Given the description of an element on the screen output the (x, y) to click on. 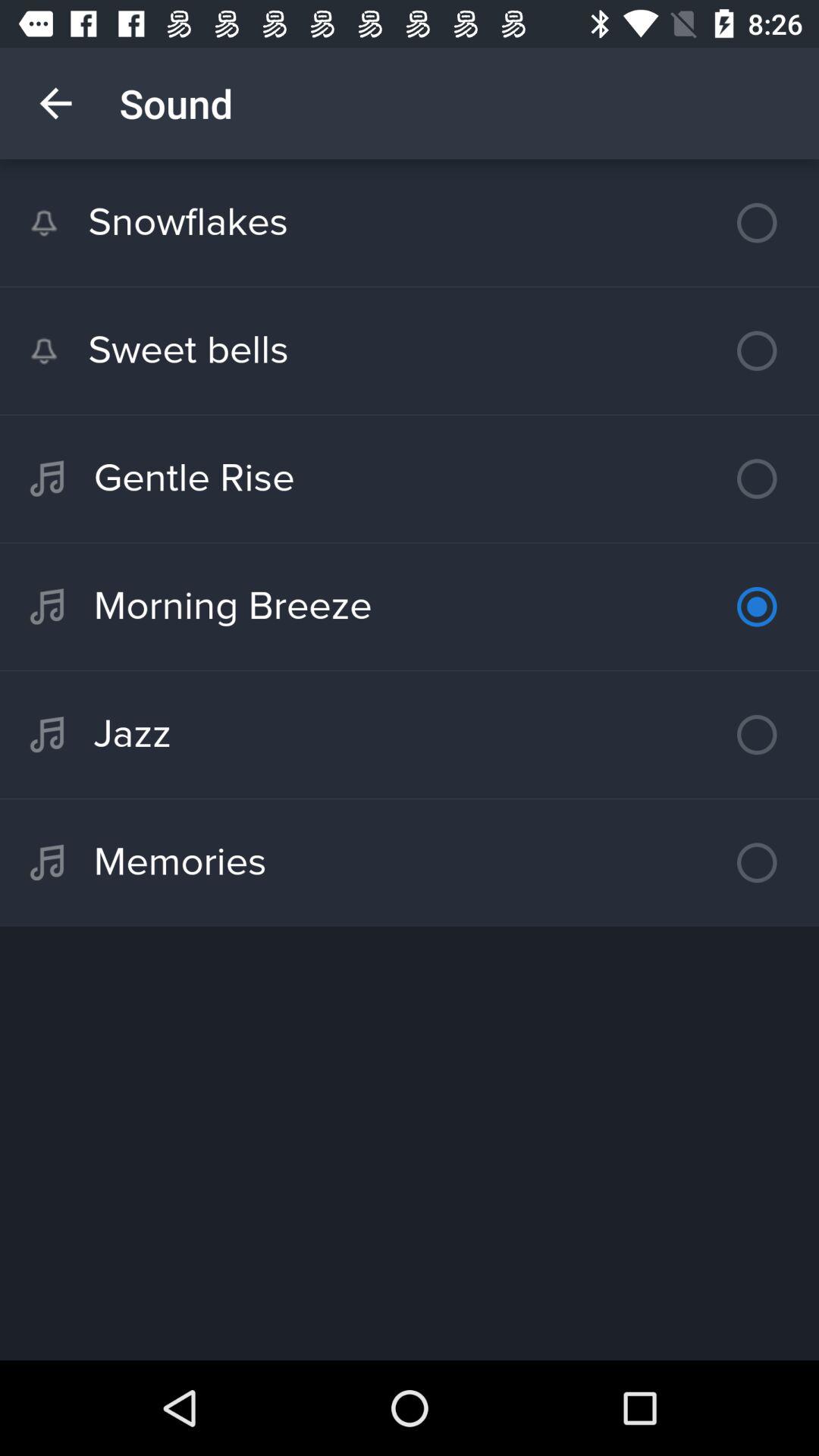
select icon above the snowflakes (55, 103)
